Given the description of an element on the screen output the (x, y) to click on. 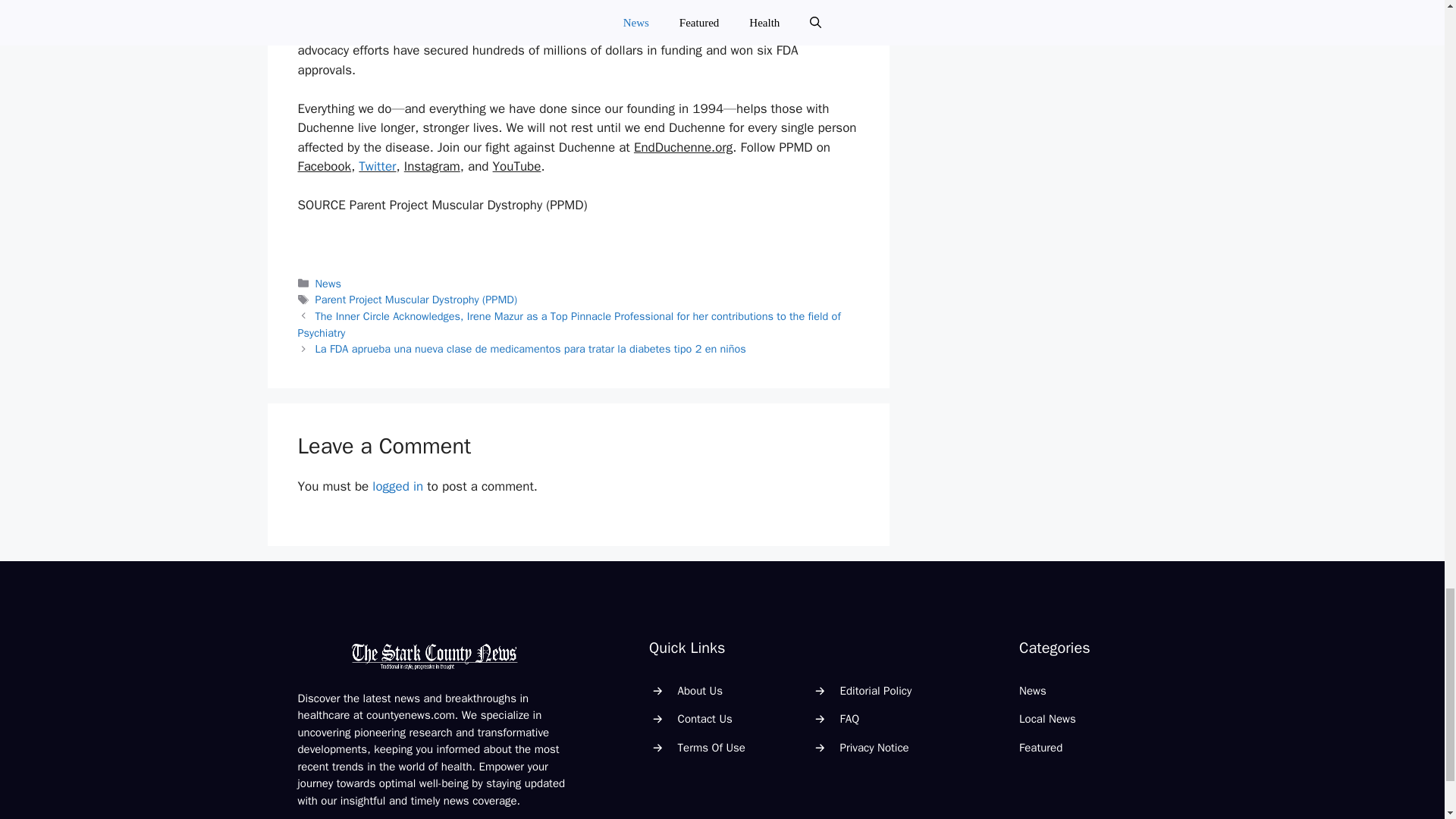
About Us (700, 690)
Privacy Notice (874, 747)
logo-2-2 (433, 655)
Editorial Policy (876, 690)
Local News (1047, 718)
Twitter (377, 166)
Featured (1040, 747)
Contact Us (705, 718)
FAQ (849, 718)
News (327, 283)
